Given the description of an element on the screen output the (x, y) to click on. 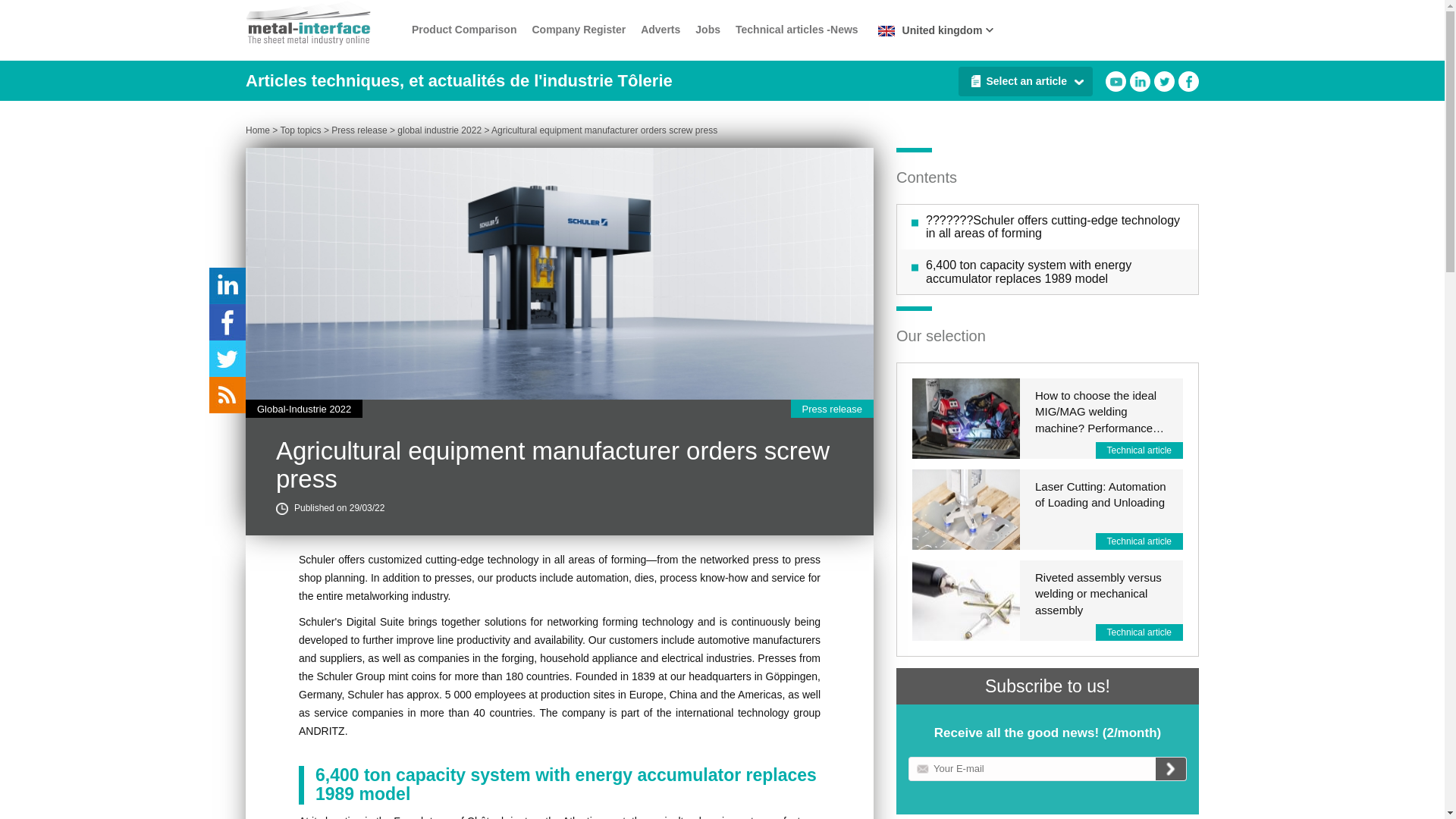
Product Comparison (464, 29)
Jobs (707, 29)
United kingdom (932, 30)
Company Register (578, 29)
Technical articles -News (797, 29)
Adverts (659, 29)
OK (1171, 768)
